Given the description of an element on the screen output the (x, y) to click on. 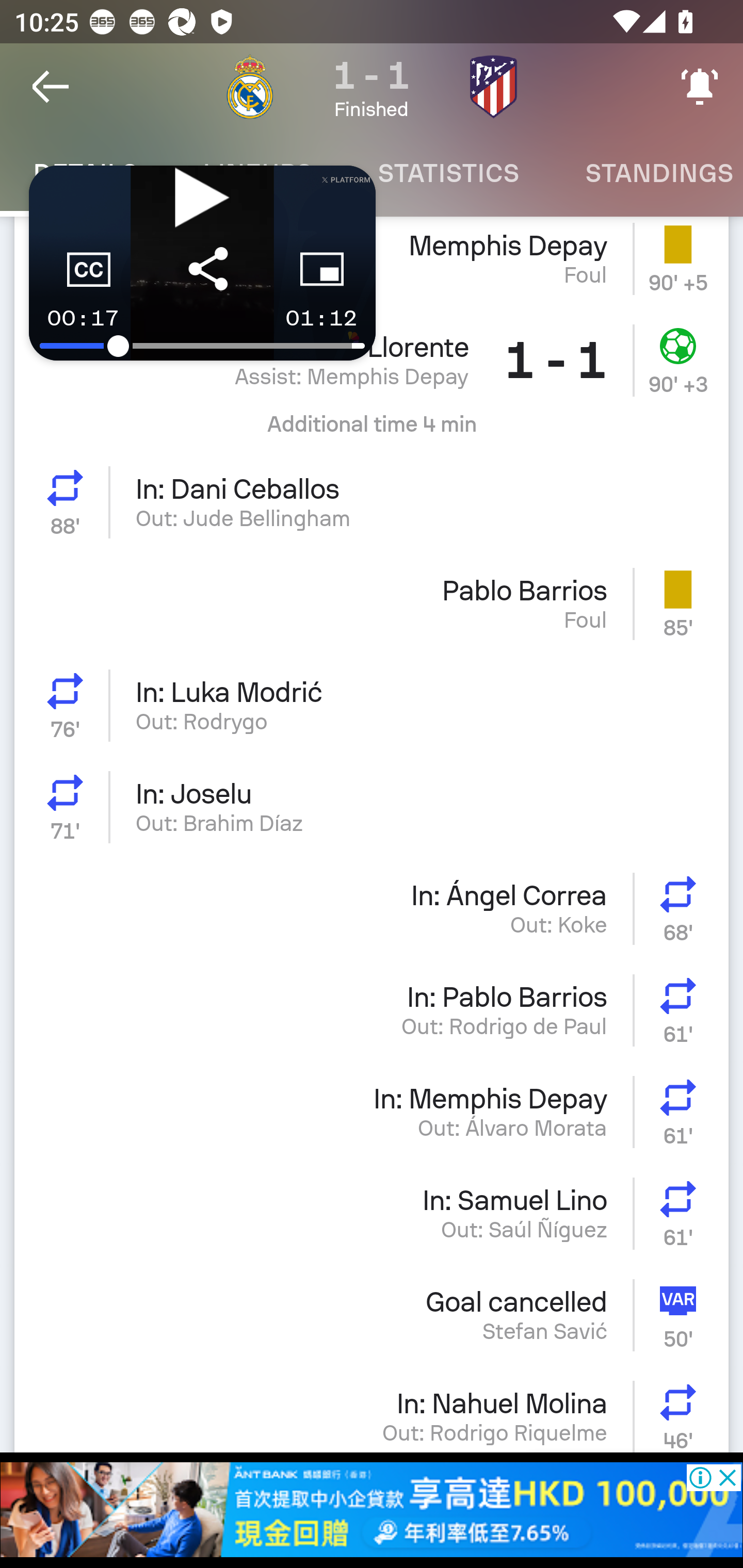
Navigate up (50, 86)
Statistics STATISTICS (448, 173)
Standings STANDINGS (647, 173)
Additional time 4 min (371, 430)
Pablo Barrios Foul Yellow card 85' (371, 603)
Substitution In: Luka Modrić 76' Out: Rodrygo (371, 704)
Substitution In: Joselu 71' Out: Brahim Díaz (371, 806)
In: Ángel Correa Out: Koke Substitution 68' (371, 908)
In: Samuel Lino Out: Saúl Ñíguez Substitution 61' (371, 1212)
Goal cancelled Stefan Savić VAR 50' (371, 1314)
